Given the description of an element on the screen output the (x, y) to click on. 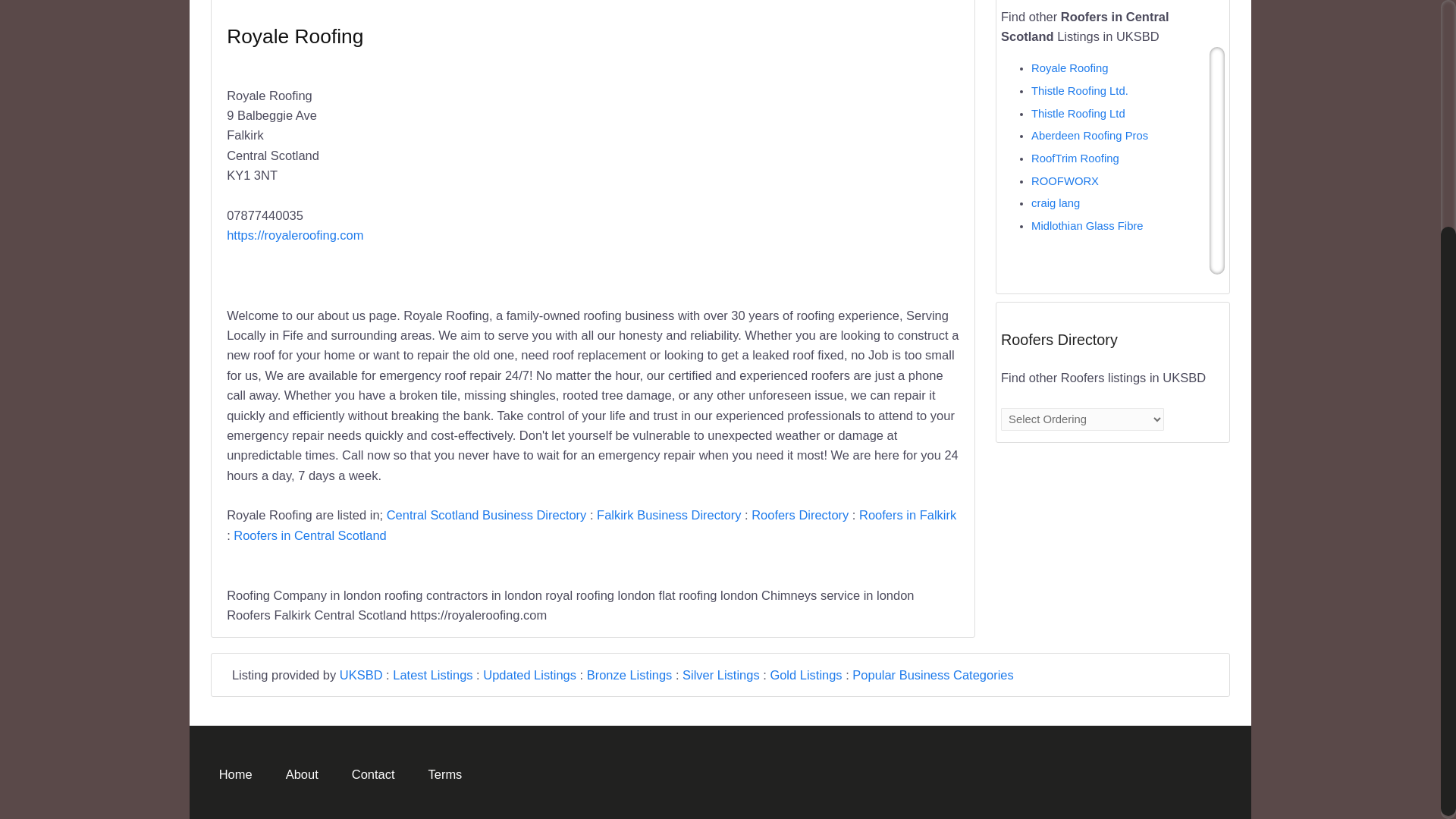
Midlothian Glass Fibre (1086, 225)
Advertisement (775, 171)
Thistle Roofing Ltd (1077, 113)
Home (235, 773)
Silver Listings (721, 674)
Terms (444, 773)
Latest Listings (432, 674)
ROOFWORX (1064, 181)
Roofers Directory (799, 514)
Contact (372, 773)
Roofers in Central Scotland (308, 535)
Central Scotland Business Directory (486, 514)
Roofers in Falkirk (907, 514)
RoofTrim Roofing (1074, 158)
Aberdeen Roofing Pros (1089, 135)
